Given the description of an element on the screen output the (x, y) to click on. 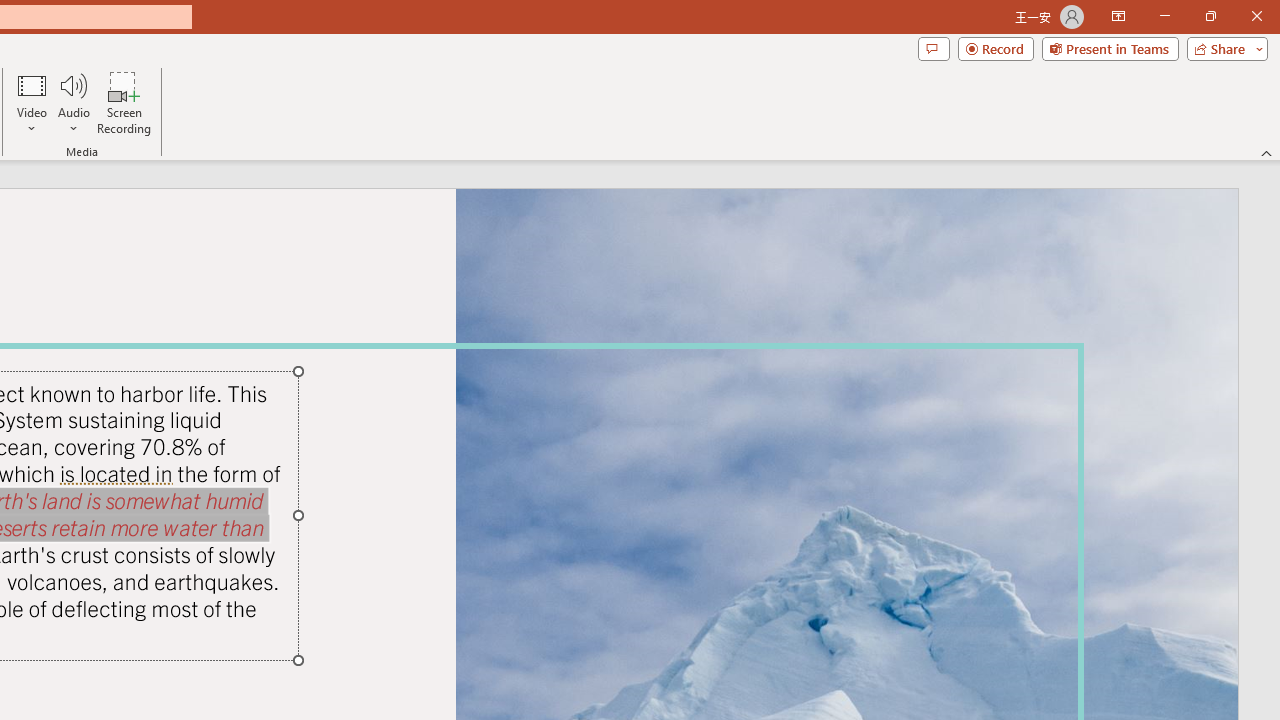
Video (31, 102)
Screen Recording... (123, 102)
